Given the description of an element on the screen output the (x, y) to click on. 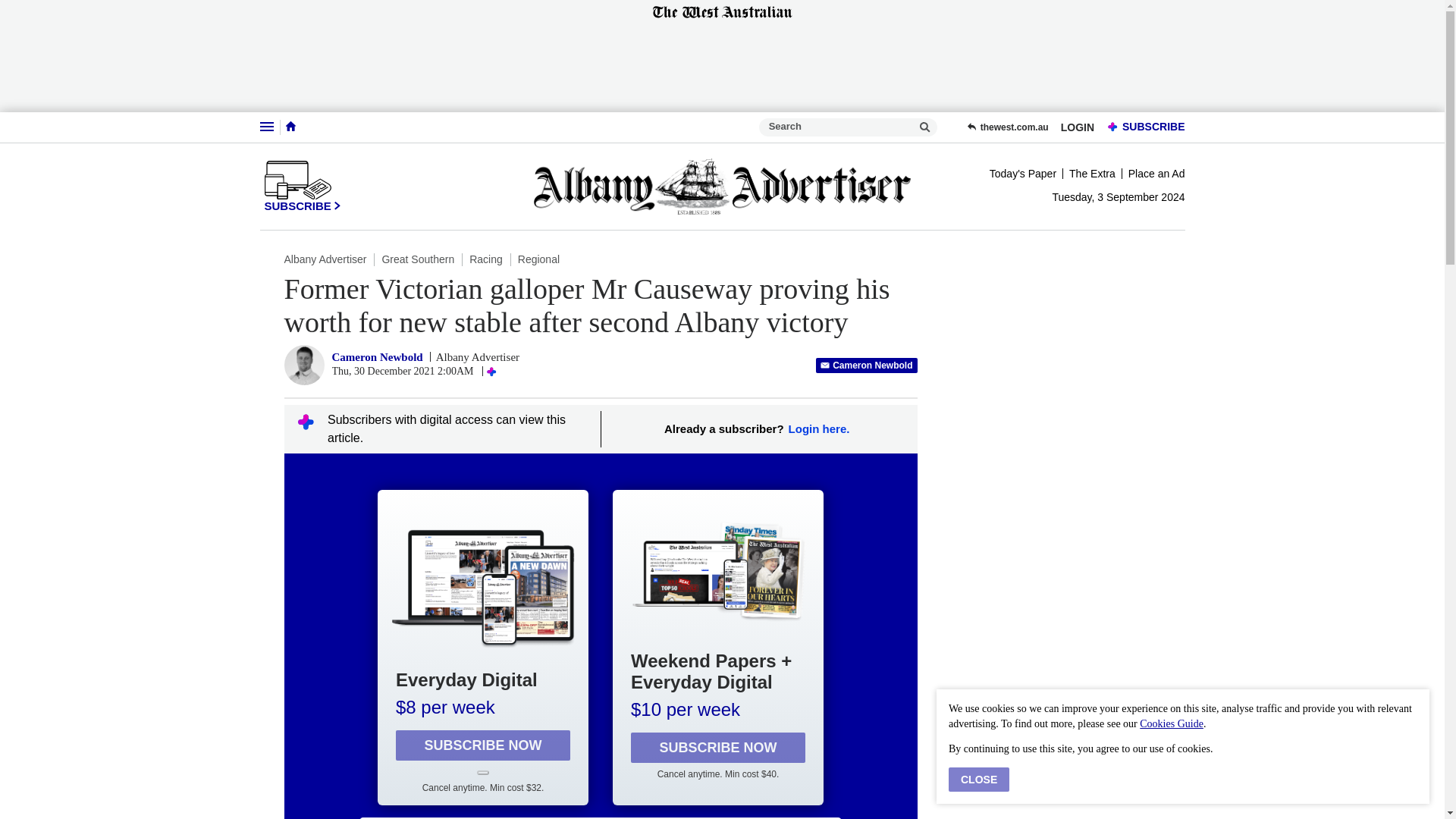
LOGIN (1077, 127)
PREMIUMSUBSCRIBE (1142, 127)
Please enter a search term. (924, 127)
Home (290, 126)
PREMIUM (1112, 126)
thewest.com.au (1007, 127)
SUBSCRIBE CHEVRON RIGHT ICON (302, 185)
Home (290, 126)
